Given the description of an element on the screen output the (x, y) to click on. 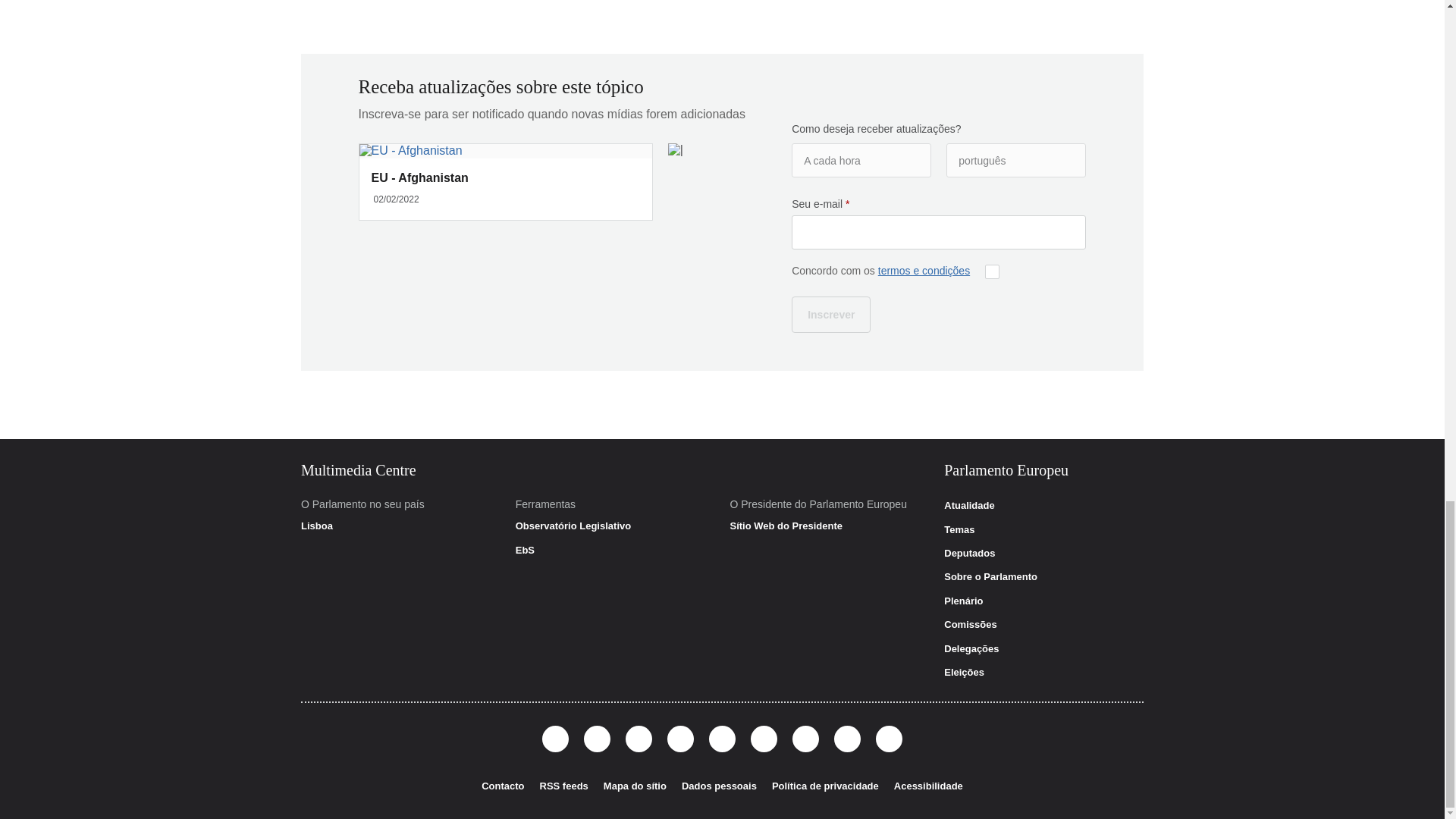
Inscrever (831, 314)
on (991, 271)
